Given the description of an element on the screen output the (x, y) to click on. 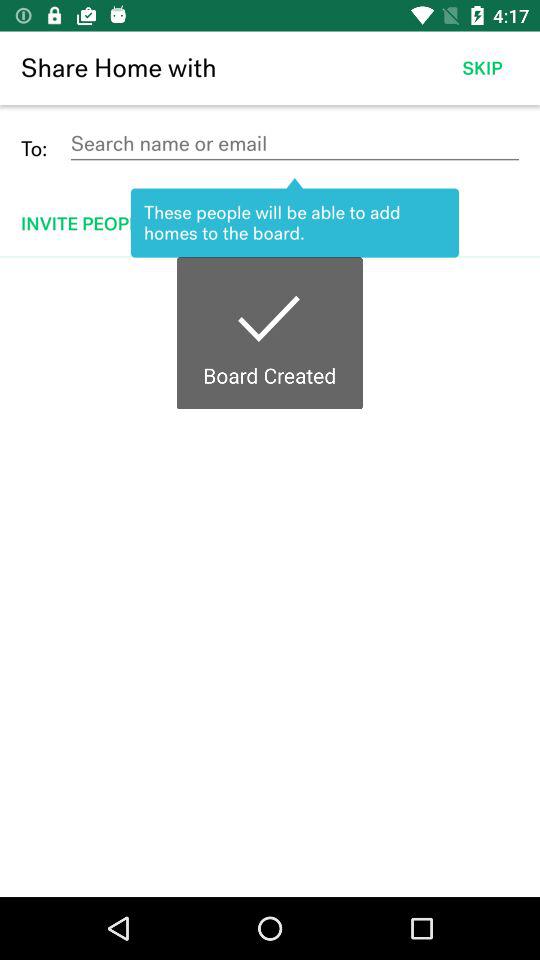
enter recipient (294, 144)
